Given the description of an element on the screen output the (x, y) to click on. 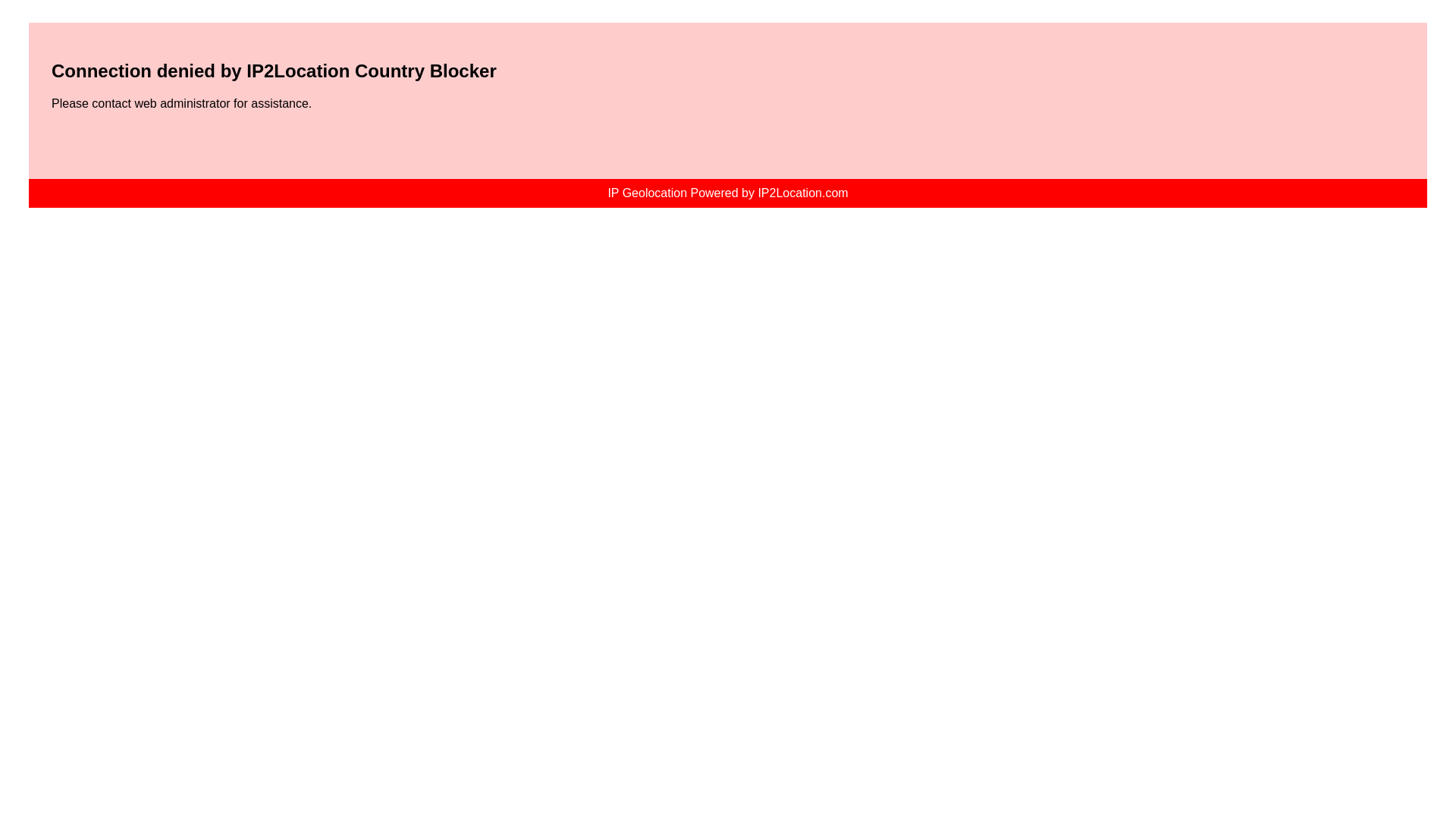
IP Geolocation Powered by IP2Location.com Element type: text (727, 192)
